Given the description of an element on the screen output the (x, y) to click on. 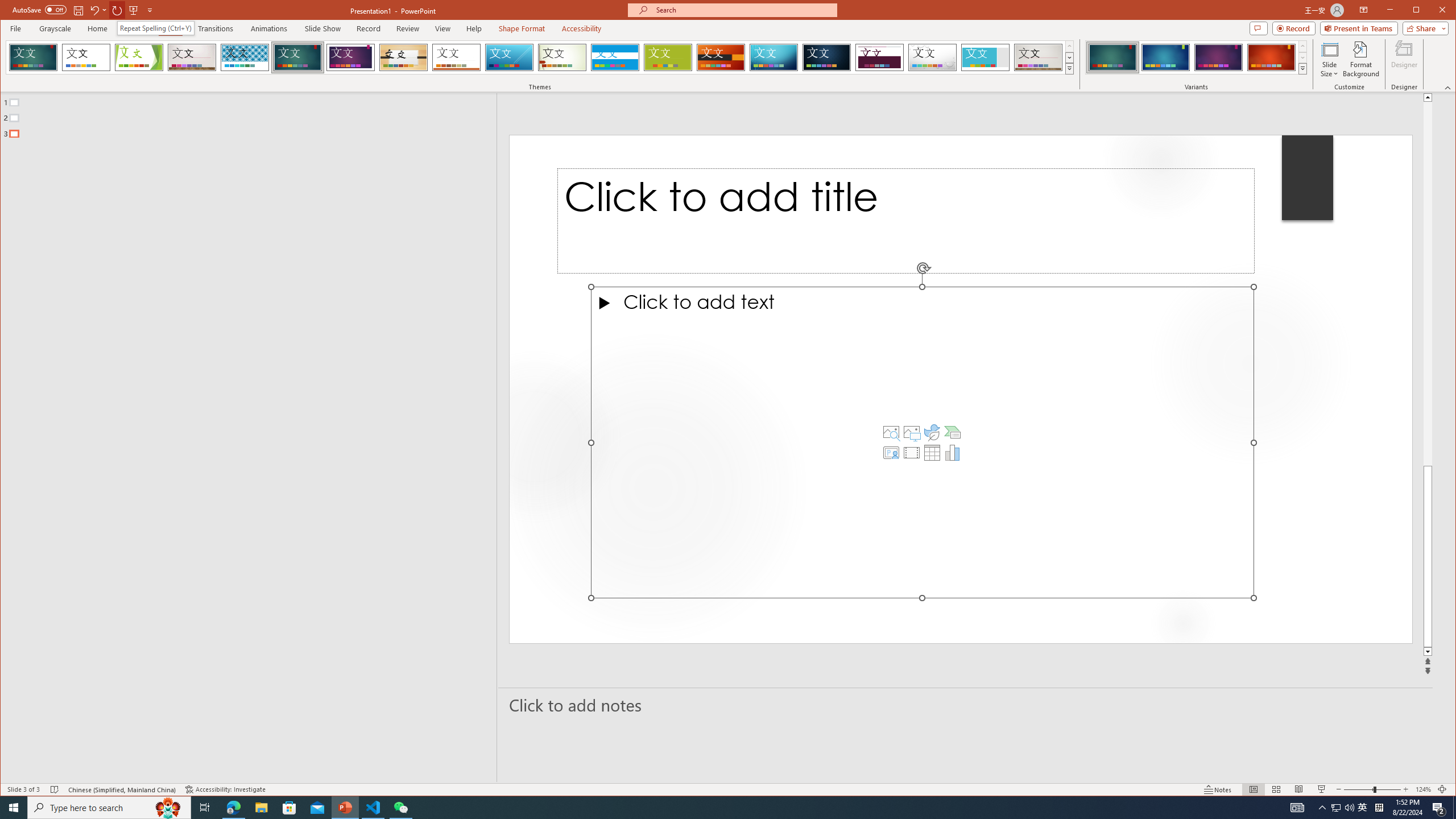
Slide Notes (965, 704)
Dividend (879, 57)
Ion Variant 3 (1218, 57)
Organic (403, 57)
Pictures (911, 432)
Ion Variant 4 (1270, 57)
AutomationID: SlideThemesGallery (540, 57)
